Given the description of an element on the screen output the (x, y) to click on. 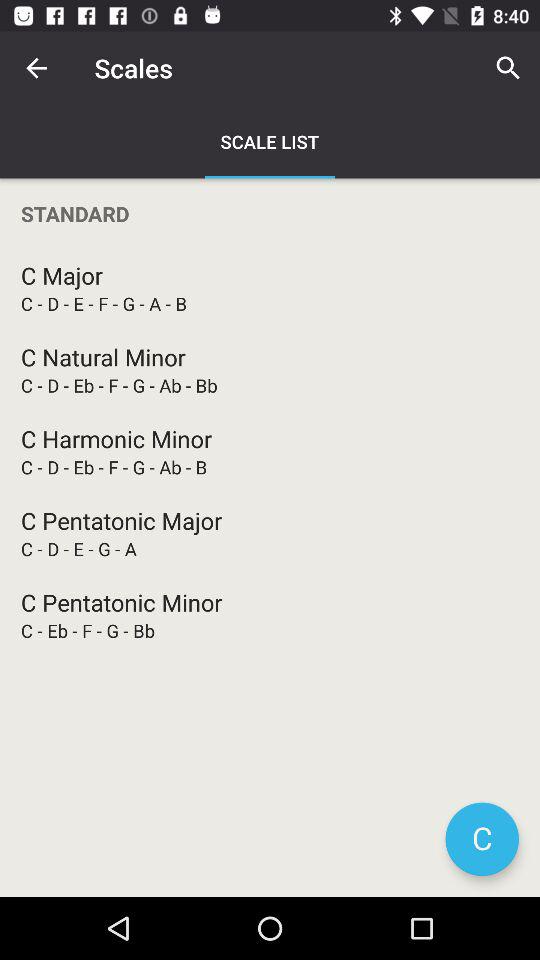
turn off icon below c eb f item (482, 839)
